Given the description of an element on the screen output the (x, y) to click on. 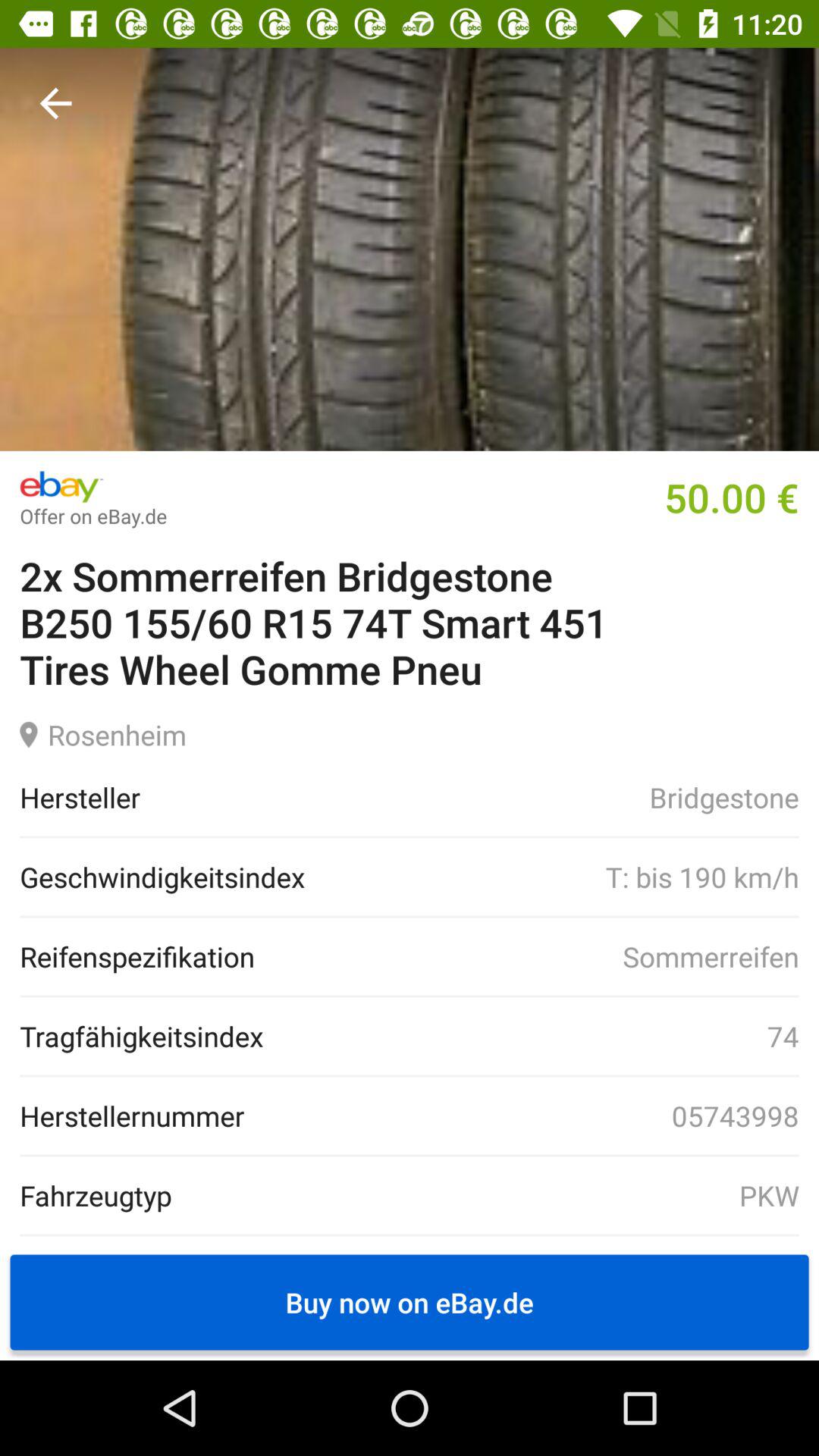
launch icon next to t bis 190 (161, 876)
